Given the description of an element on the screen output the (x, y) to click on. 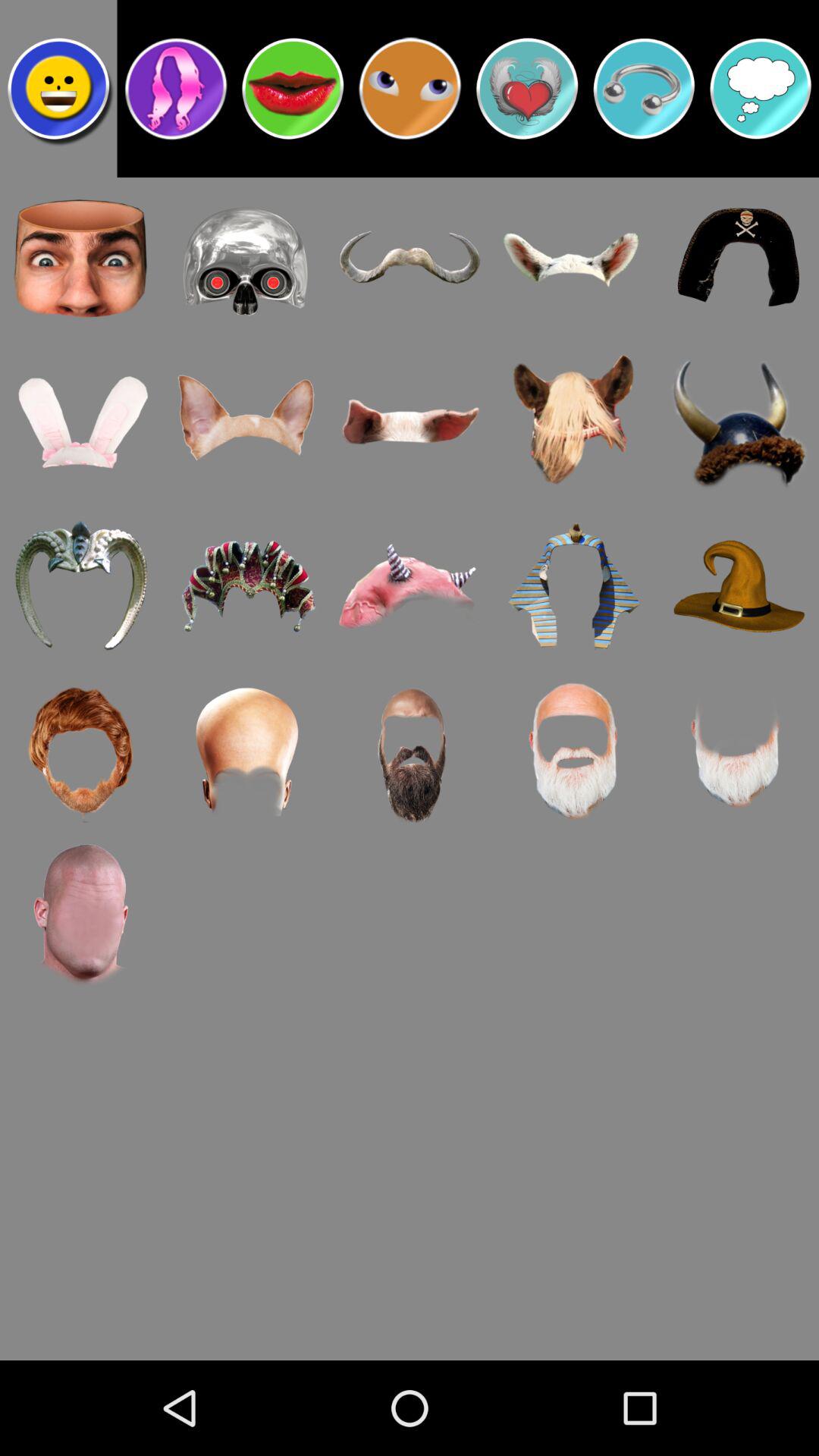
select category of sticker (760, 88)
